Given the description of an element on the screen output the (x, y) to click on. 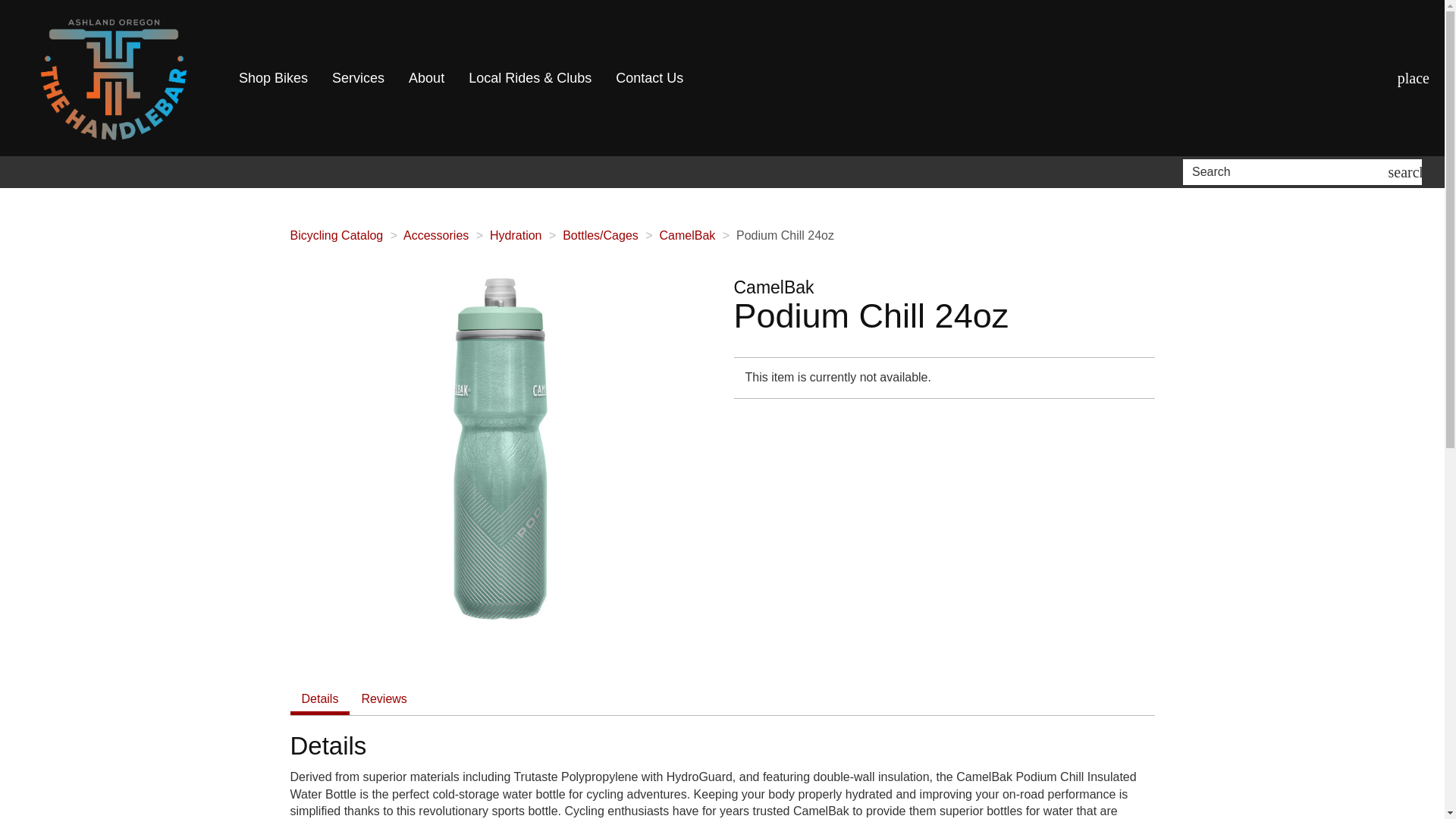
Store (1413, 77)
Store (1413, 77)
About (426, 78)
The Handlebar Home Page (114, 77)
Accessories (435, 235)
Shop Bikes (272, 78)
Details (319, 699)
Search (1407, 171)
Services (358, 78)
Search (1287, 171)
Contact Us (649, 78)
Reviews (383, 699)
Hydration (515, 235)
CamelBak (687, 235)
Bicycling Catalog (335, 235)
